Given the description of an element on the screen output the (x, y) to click on. 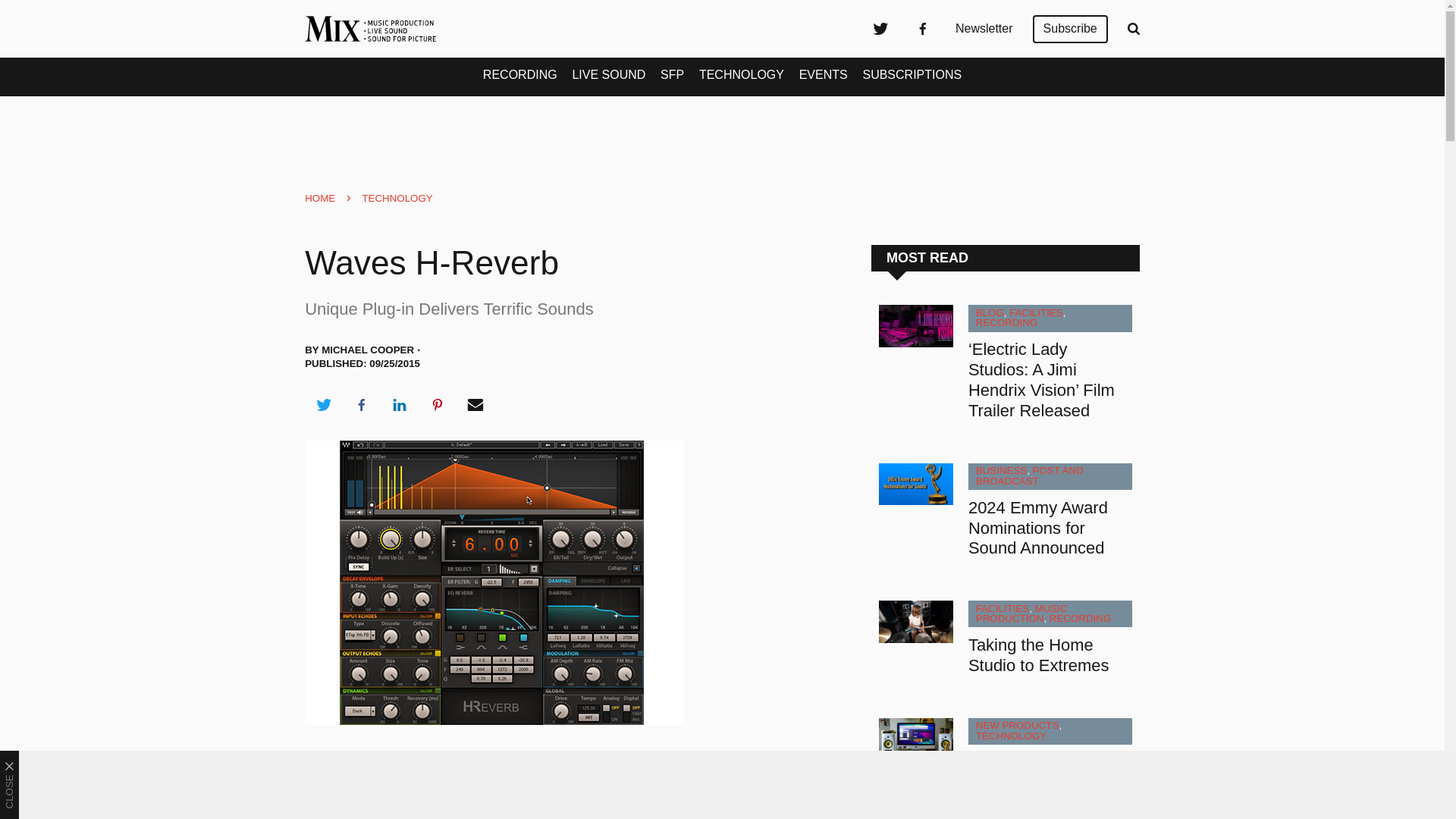
Share on Pinterest (438, 404)
Share via Email (476, 404)
Share on LinkedIn (399, 404)
Share on Facebook (361, 404)
Share on Twitter (323, 404)
